Given the description of an element on the screen output the (x, y) to click on. 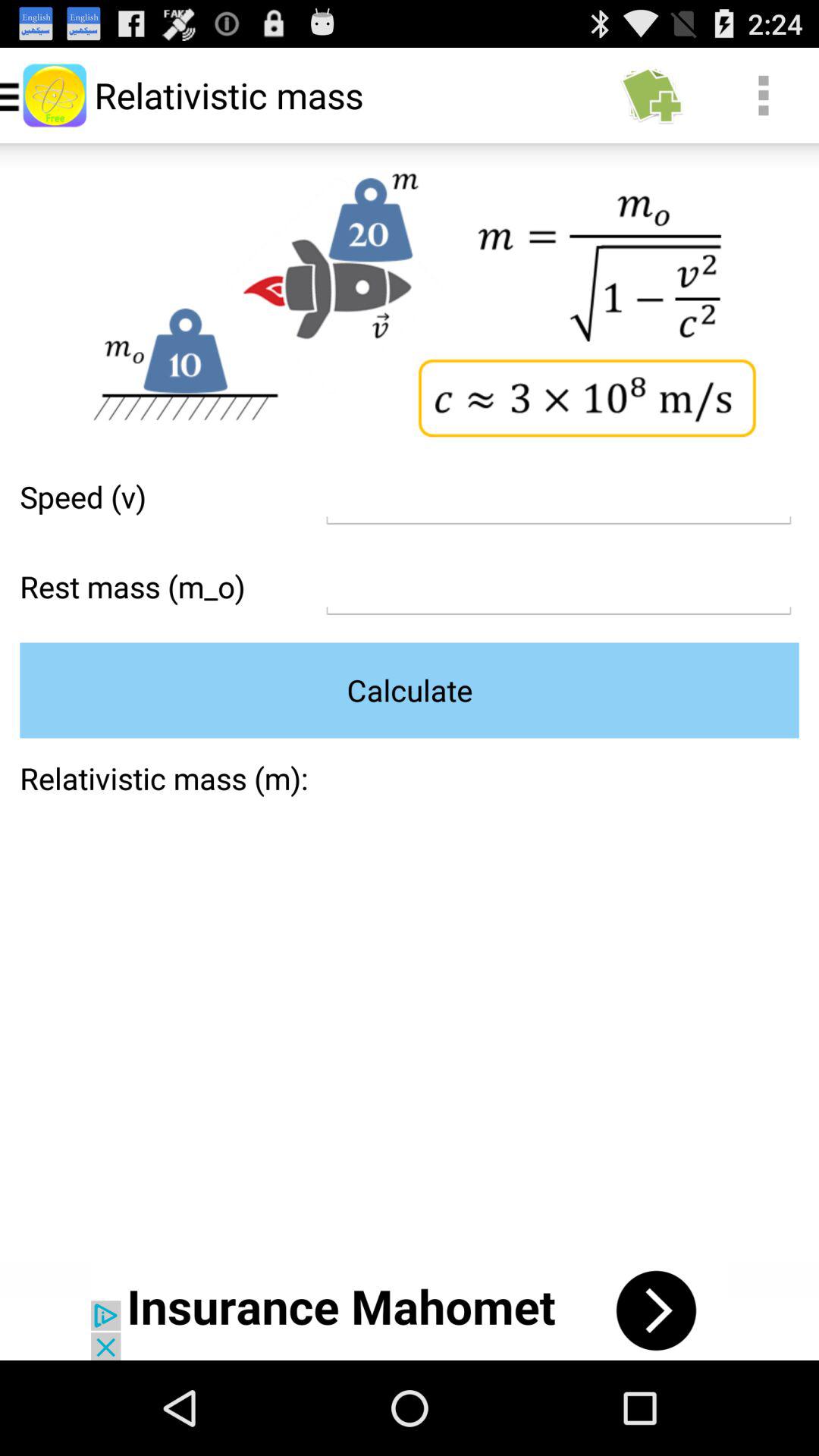
formula page (558, 587)
